Given the description of an element on the screen output the (x, y) to click on. 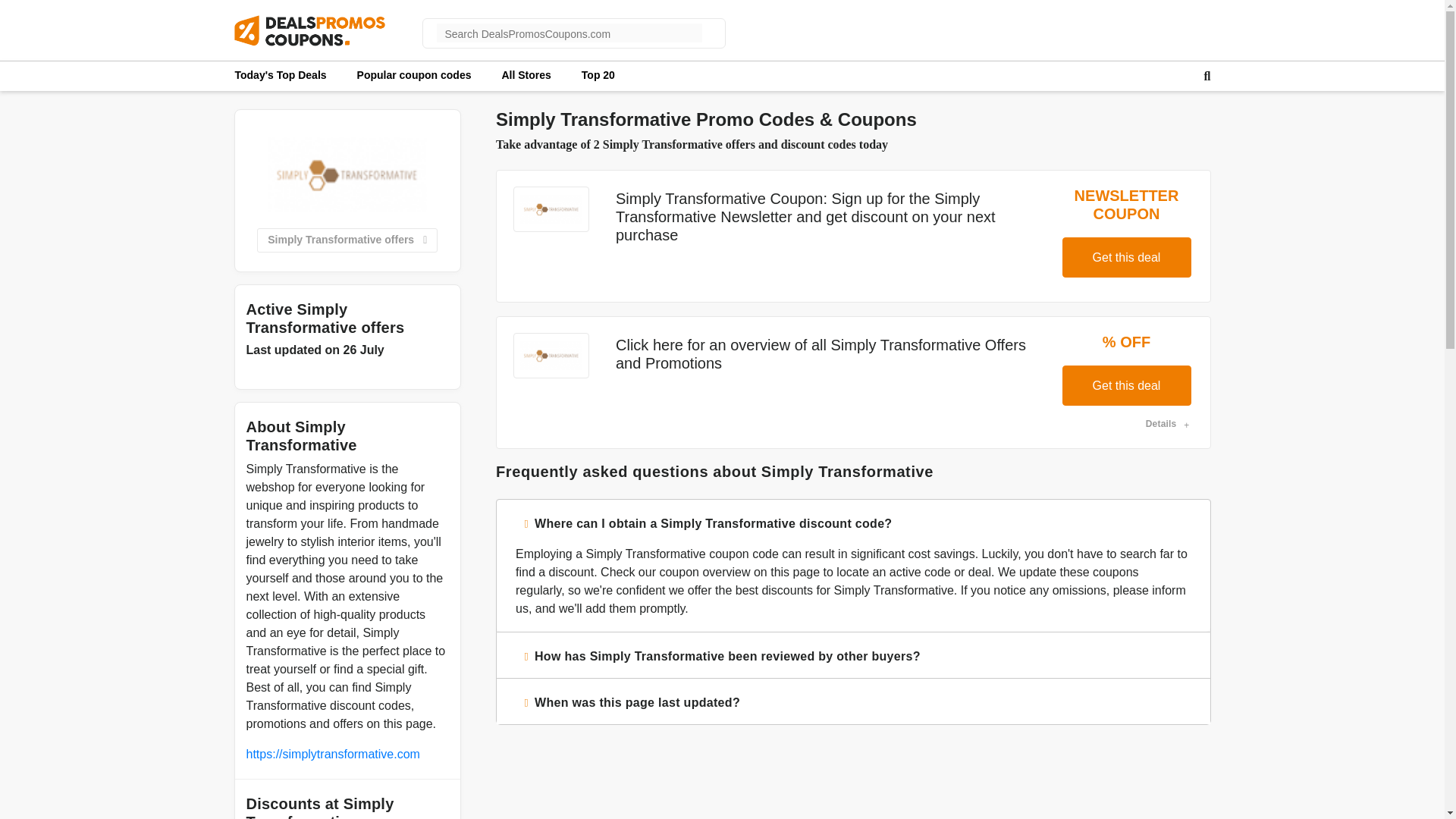
Score the Best Bargains: Today's Top Deals Await! (280, 74)
Find all our offers (413, 74)
Top 20 (597, 74)
All Stores (525, 74)
When was this page last updated? (852, 700)
How has Simply Transformative been reviewed by other buyers? (852, 655)
Get this deal (1126, 257)
Simply Transformative offers (347, 240)
Best coupon codes (597, 74)
Where can I obtain a Simply Transformative discount code? (852, 522)
Stores (525, 74)
Popular coupon codes (413, 74)
Get this deal (1126, 385)
Simply Transformative logo (346, 174)
Details (1167, 423)
